Given the description of an element on the screen output the (x, y) to click on. 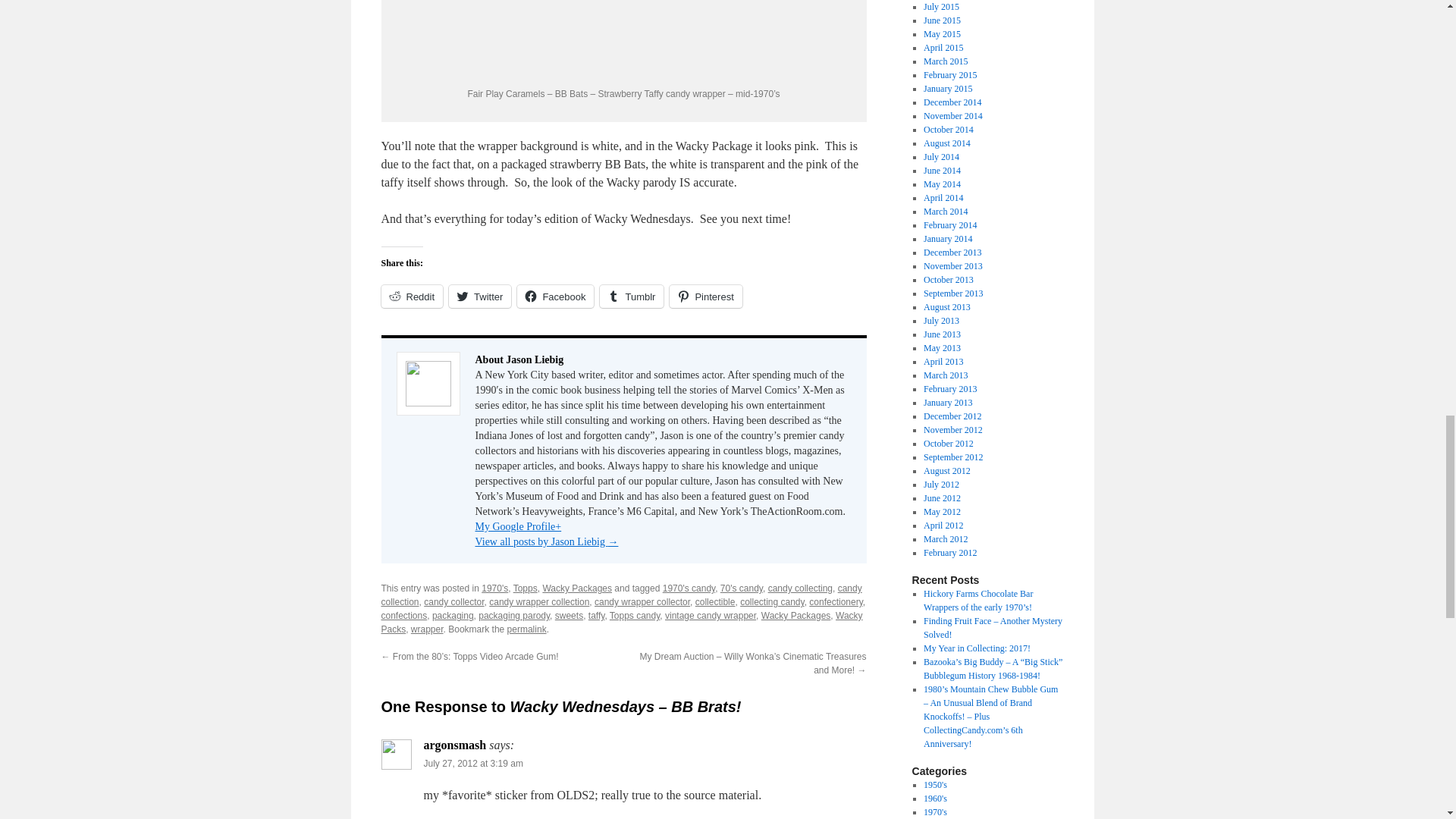
Tumblr (631, 296)
sweets (568, 615)
Topps candy (635, 615)
Click to share on Pinterest (705, 296)
Click to share on Reddit (411, 296)
Wacky Packages (576, 588)
Pinterest (705, 296)
Topps (525, 588)
Click to share on Facebook (555, 296)
packaging (453, 615)
